Given the description of an element on the screen output the (x, y) to click on. 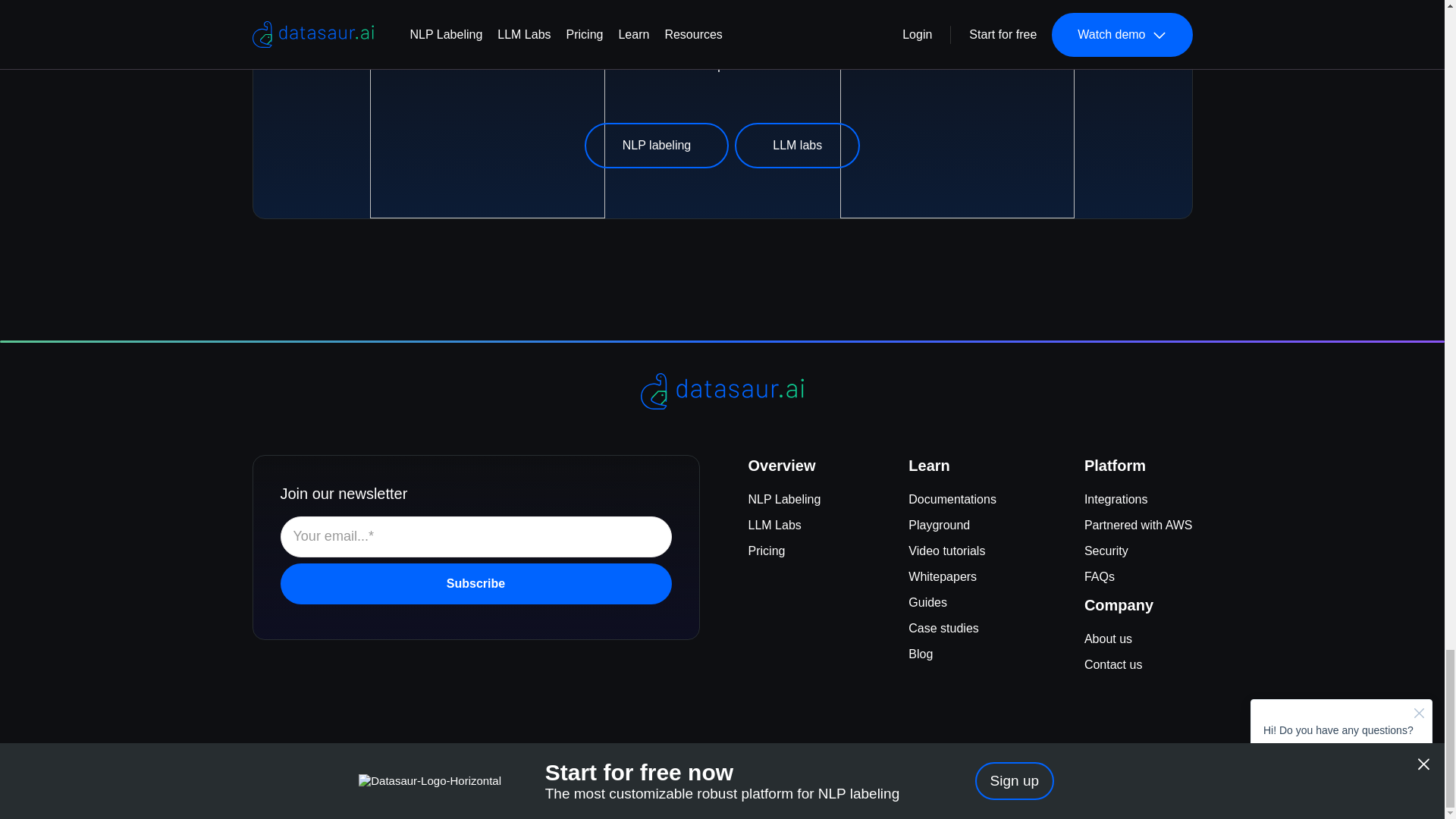
Subscribe (476, 583)
